Given the description of an element on the screen output the (x, y) to click on. 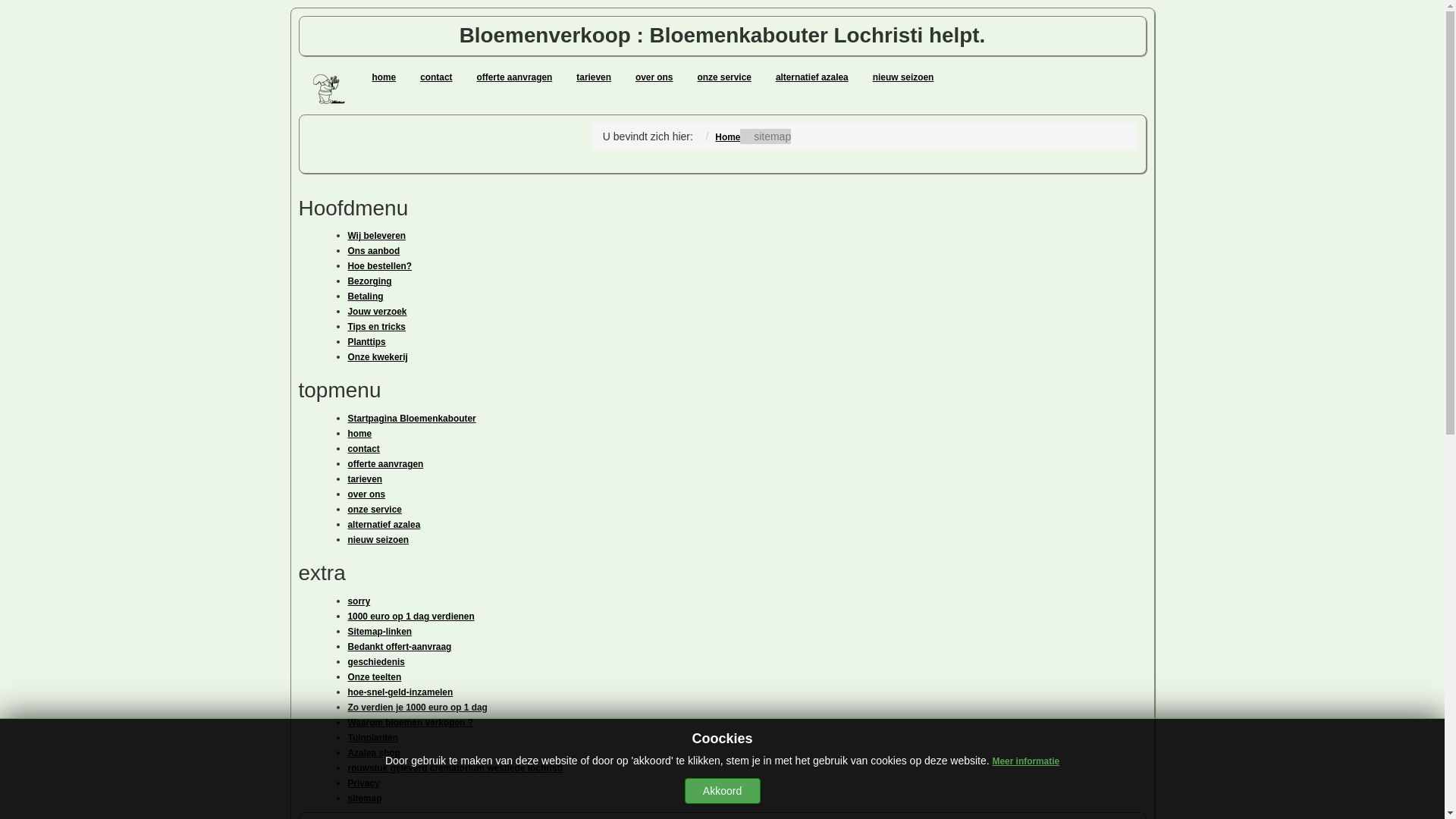
Tips en tricks Element type: text (375, 326)
rouwstuk geleverd crematorium westlede lochristi Element type: text (454, 767)
contact Element type: text (435, 77)
Onze kwekerij Element type: text (377, 356)
Privacy Element type: text (363, 783)
over ons Element type: text (654, 77)
nieuw seizoen Element type: text (377, 539)
Home Element type: text (727, 136)
tarieven Element type: text (364, 478)
Bezorging Element type: text (369, 281)
home Element type: text (359, 433)
offerte aanvragen Element type: text (514, 77)
home Element type: text (383, 77)
Sitemap-linken Element type: text (379, 631)
Planttips Element type: text (366, 341)
Wij beleveren Element type: text (376, 235)
Ons aanbod Element type: text (373, 250)
Bedankt offert-aanvraag Element type: text (399, 646)
onze service Element type: text (374, 509)
geschiedenis Element type: text (375, 661)
sorry Element type: text (358, 601)
onze service Element type: text (723, 77)
Zo verdien je 1000 euro op 1 dag Element type: text (416, 707)
1000 euro op 1 dag verdienen Element type: text (410, 616)
Jouw verzoek Element type: text (376, 311)
Azalea shop Element type: text (373, 752)
hoe-snel-geld-inzamelen Element type: text (399, 692)
tarieven Element type: text (593, 77)
offerte aanvragen Element type: text (385, 463)
Hoe bestellen? Element type: text (379, 265)
Startpagina Bloemenkabouter Element type: text (411, 418)
alternatief azalea Element type: text (383, 524)
Meer informatie Element type: text (1026, 761)
Onze teelten Element type: text (374, 676)
alternatief azalea Element type: text (811, 77)
Waarom bloemen verkopen ? Element type: text (409, 722)
over ons Element type: text (366, 494)
nieuw seizoen Element type: text (903, 77)
Betaling Element type: text (364, 296)
sitemap Element type: text (364, 798)
contact Element type: text (363, 448)
Tuinplanten Element type: text (372, 737)
